Given the description of an element on the screen output the (x, y) to click on. 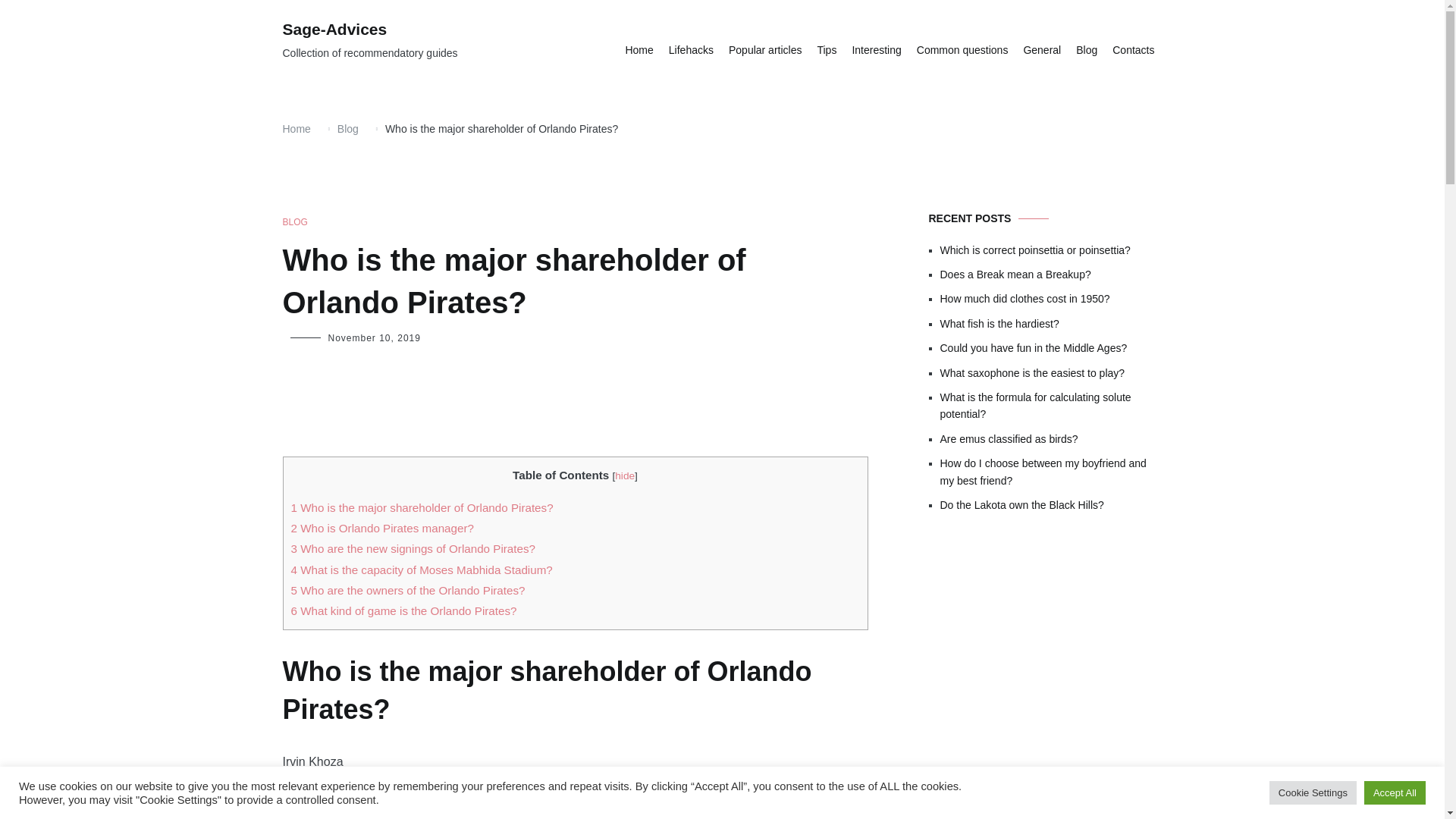
hide (624, 475)
Which is correct poinsettia or poinsettia? (1050, 249)
Common questions (963, 49)
4 What is the capacity of Moses Mabhida Stadium? (422, 569)
What saxophone is the easiest to play? (1050, 372)
3 Who are the new signings of Orlando Pirates? (413, 548)
Could you have fun in the Middle Ages? (1050, 347)
5 Who are the owners of the Orlando Pirates? (408, 590)
Contacts (1133, 49)
1 Who is the major shareholder of Orlando Pirates? (422, 507)
